Given the description of an element on the screen output the (x, y) to click on. 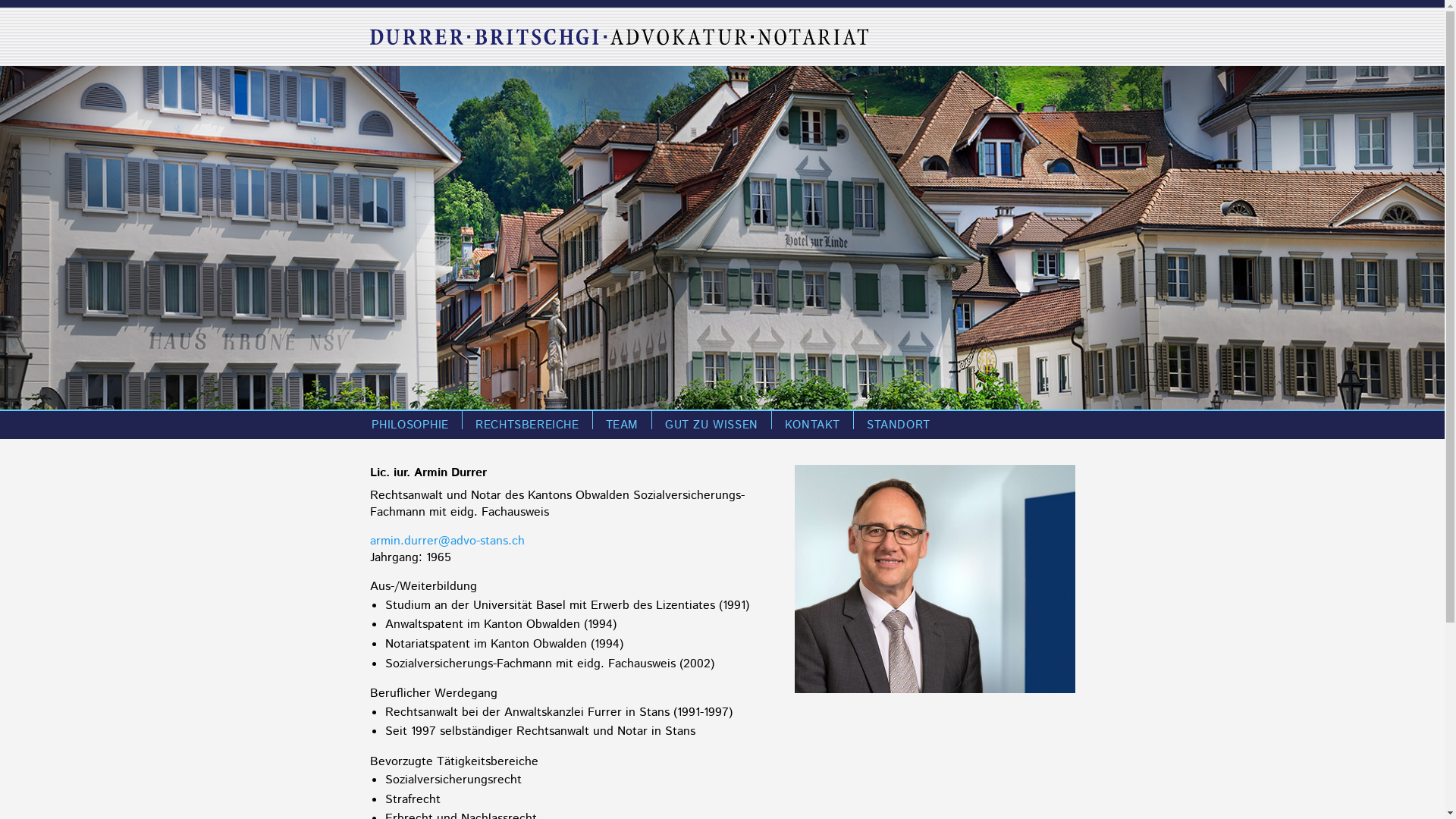
TEAM Element type: text (622, 425)
RECHTSBEREICHE Element type: text (526, 425)
STANDORT Element type: text (898, 425)
armin.durrer@advo-stans.ch Element type: text (447, 540)
Home Element type: hover (619, 36)
GUT ZU WISSEN Element type: text (711, 425)
PHILOSOPHIE Element type: text (409, 425)
KONTAKT Element type: text (812, 425)
